Given the description of an element on the screen output the (x, y) to click on. 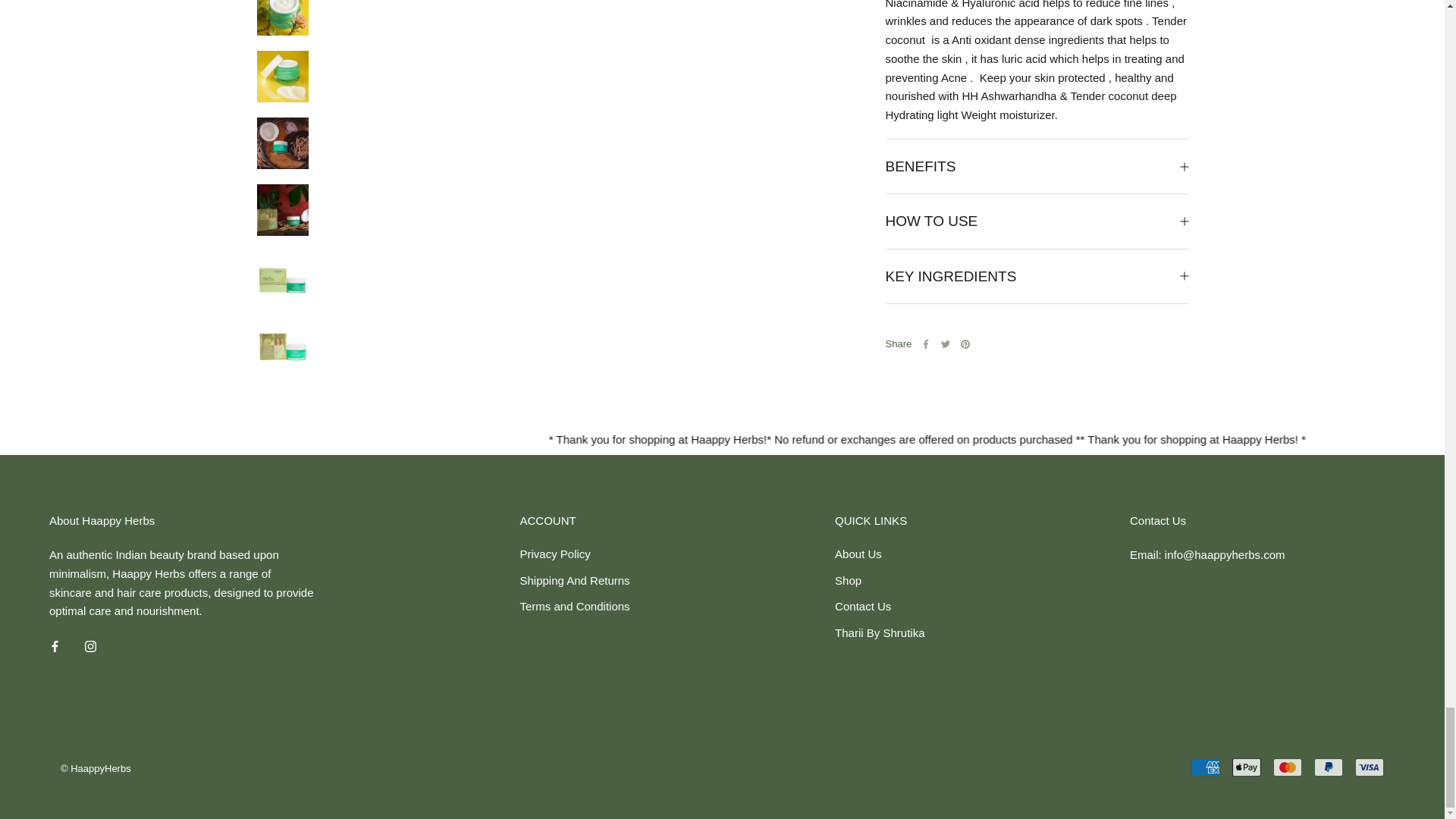
PayPal (1328, 767)
American Express (1205, 767)
Mastercard (1286, 767)
Apple Pay (1245, 767)
Visa (1369, 767)
